Given the description of an element on the screen output the (x, y) to click on. 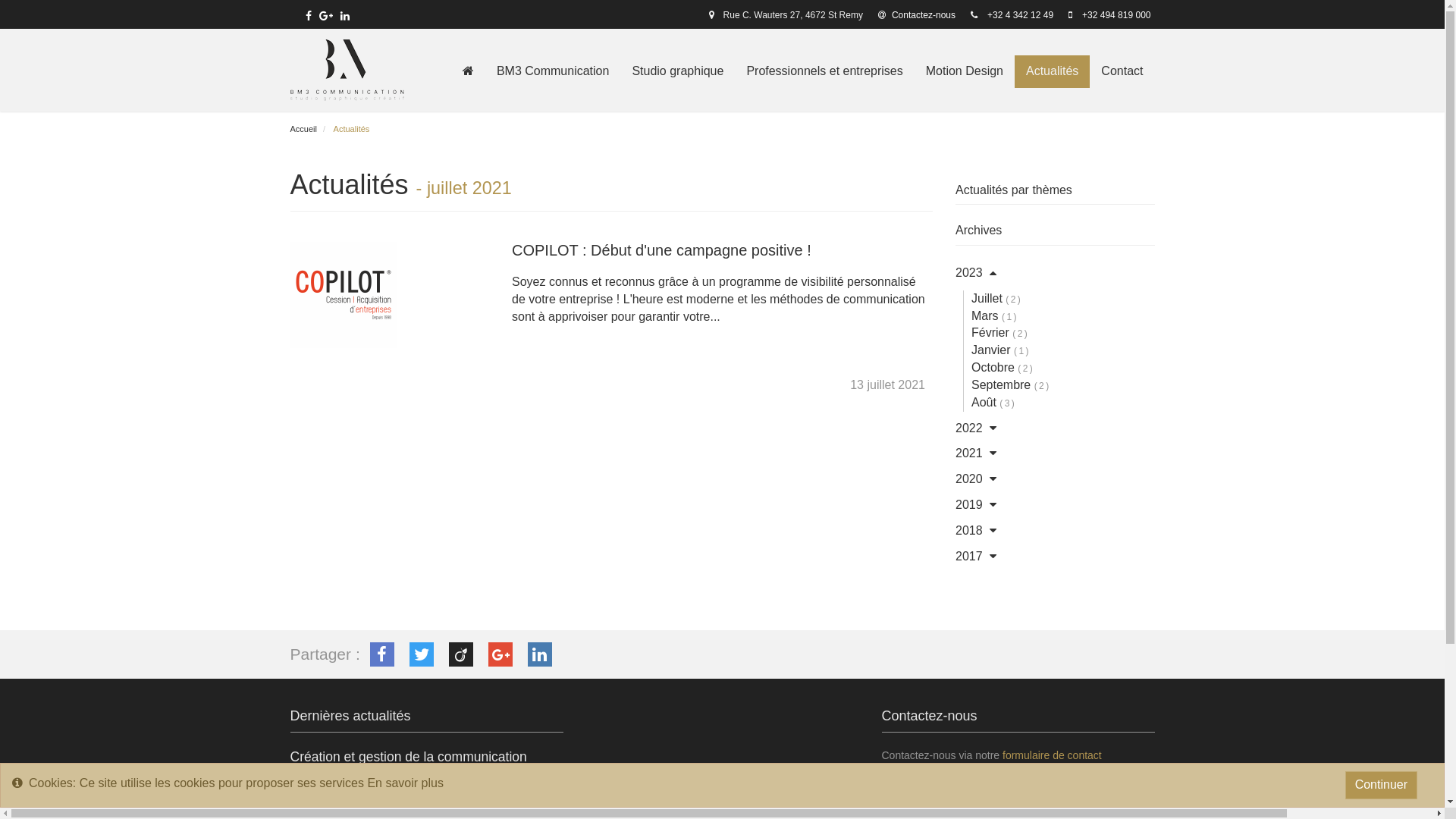
En savoir plus Element type: text (405, 782)
Contactez-nous Element type: text (916, 15)
2022 Element type: text (968, 427)
Continuer Element type: text (1381, 785)
+32 494 819 000 Element type: text (1116, 15)
Passer le menu Element type: text (450, 54)
2023 Element type: text (968, 272)
2020 Element type: text (968, 478)
Viadeo Element type: text (460, 654)
Accueil Element type: text (302, 128)
+32 4 342 12 49 Element type: text (1020, 15)
Suivez-nous sur Facebook Element type: text (308, 15)
Facebook Element type: text (382, 654)
2017 Element type: text (968, 555)
2021 Element type: text (968, 452)
Linkedin Element type: text (539, 654)
Voir l'accueil Element type: hover (468, 71)
Suivez-nous sur LinkedIn Element type: text (344, 15)
2018 Element type: text (968, 530)
2019 Element type: text (968, 504)
Accueil Element type: hover (347, 69)
BM3 Communication Element type: text (553, 71)
Professionnels et entreprises Element type: text (823, 71)
formulaire de contact Element type: text (1051, 755)
Twitter Element type: text (421, 654)
Contact Element type: text (1121, 71)
Suivez-nous sur Google+ Element type: text (325, 15)
Motion Design Element type: text (964, 71)
Google Element type: text (500, 654)
Studio graphique Element type: text (677, 71)
